Given the description of an element on the screen output the (x, y) to click on. 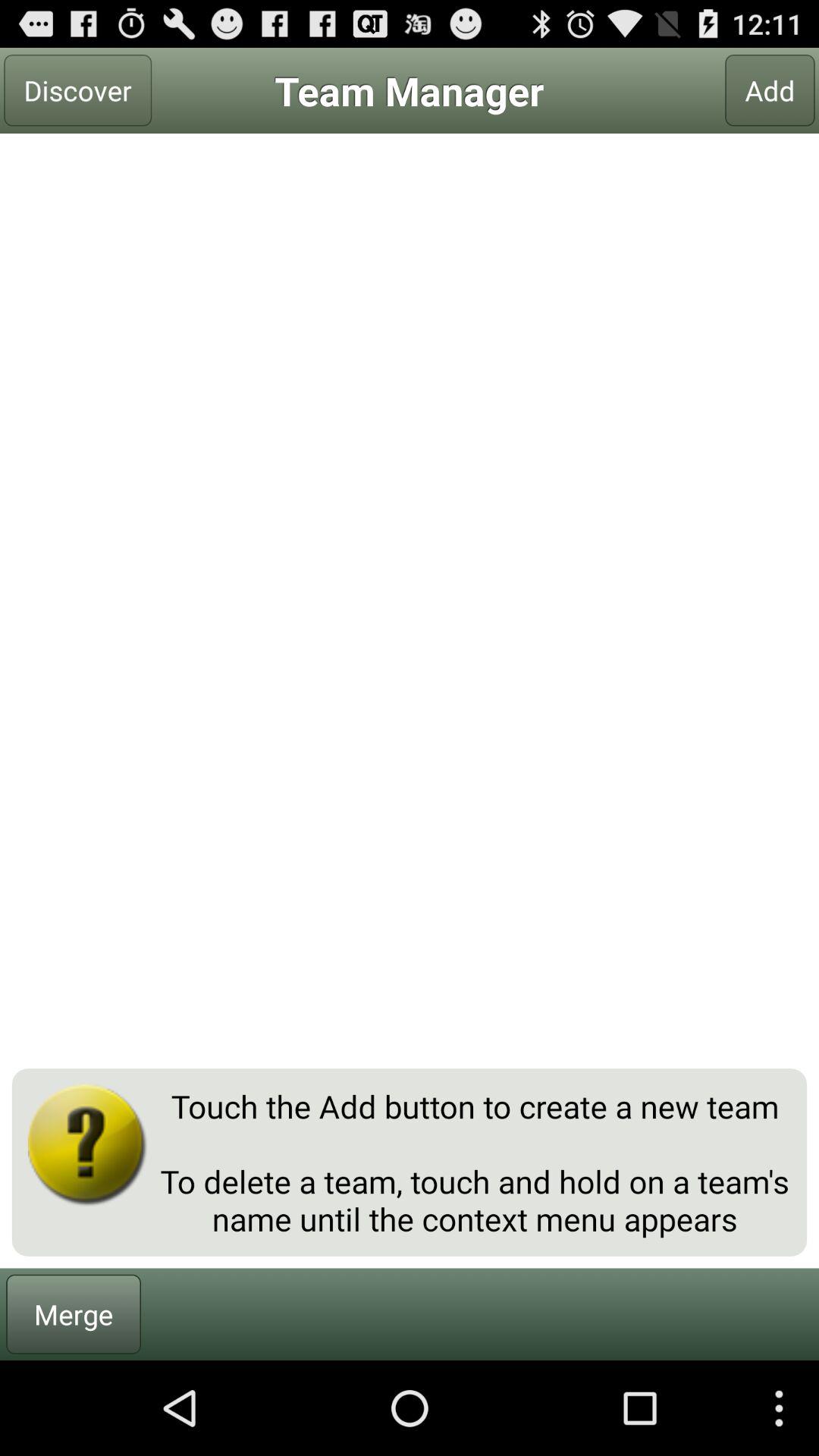
turn on discover at the top left corner (77, 90)
